Given the description of an element on the screen output the (x, y) to click on. 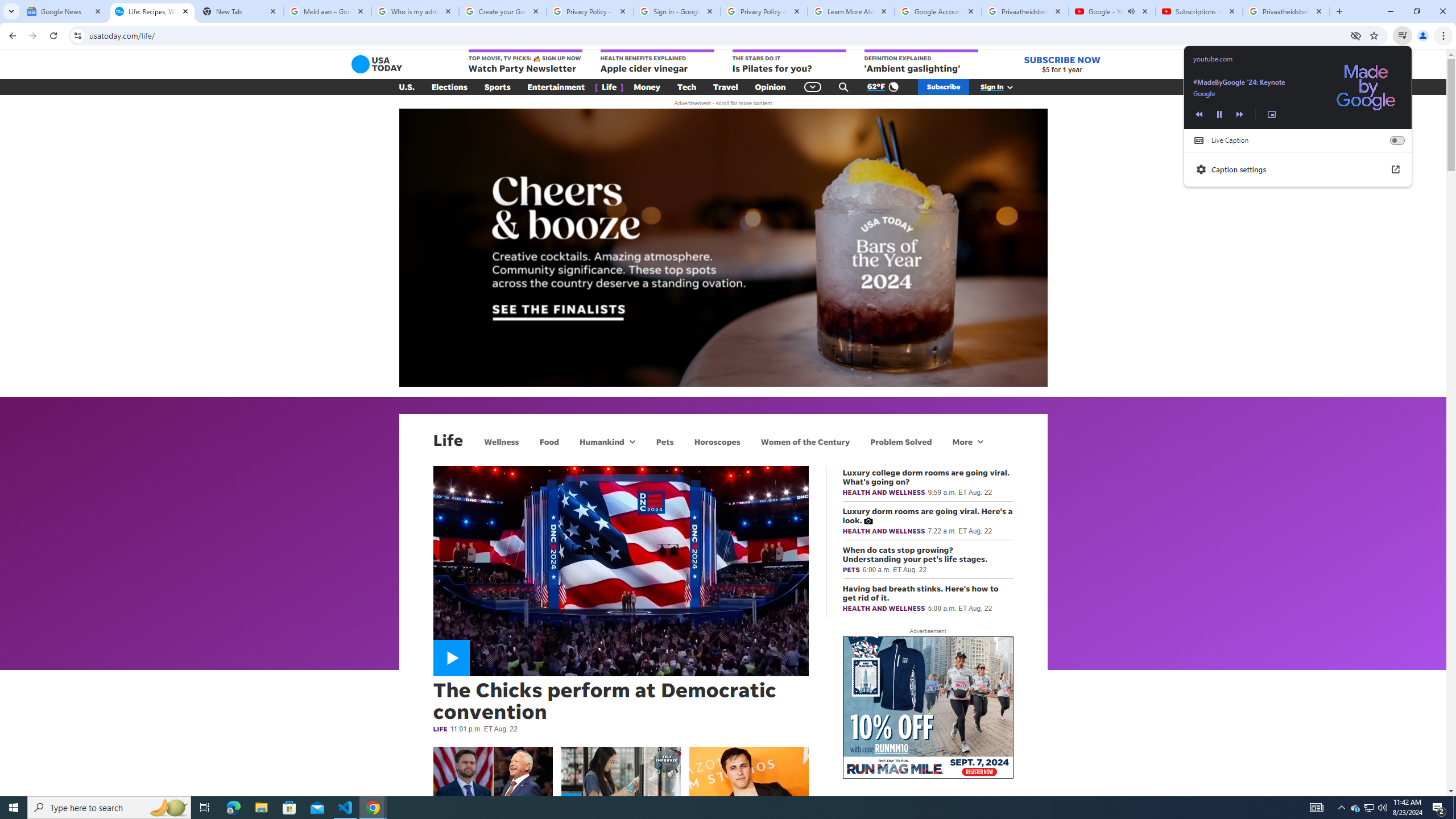
Close (1318, 11)
AutomationID: 4105 (1316, 807)
Search highlights icon opens search home window (167, 807)
New Tab (1338, 11)
User Promoted Notification Area (1368, 807)
Task View (204, 807)
Seek Forward (1240, 114)
Address and search bar (715, 35)
Show desktop (1454, 807)
Type here to search (108, 807)
Problem Solved (901, 441)
Entertainment (556, 87)
